Given the description of an element on the screen output the (x, y) to click on. 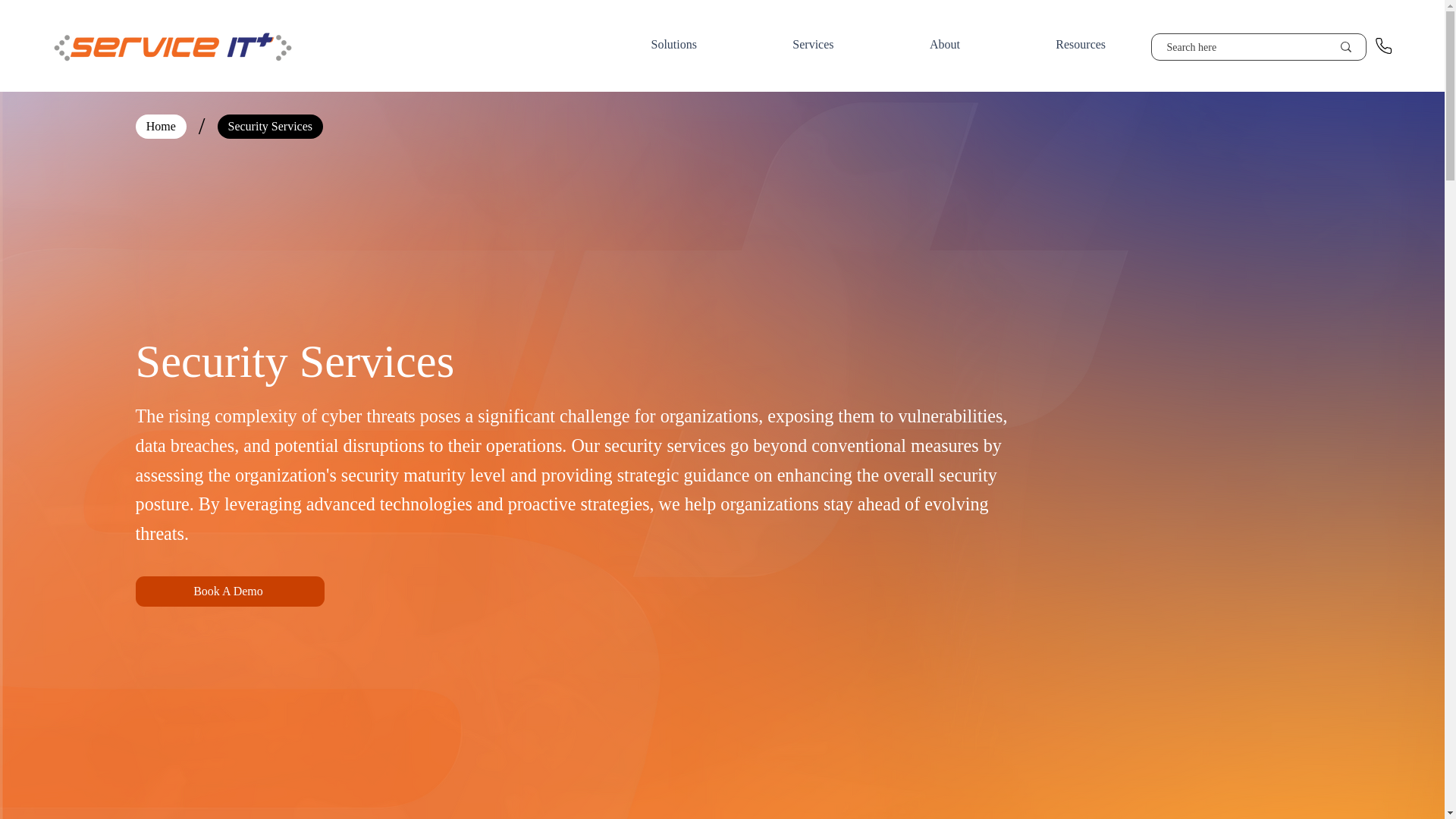
Home (160, 126)
Resources (1080, 44)
Book A Demo (229, 591)
Security Services (269, 126)
About (944, 44)
